Given the description of an element on the screen output the (x, y) to click on. 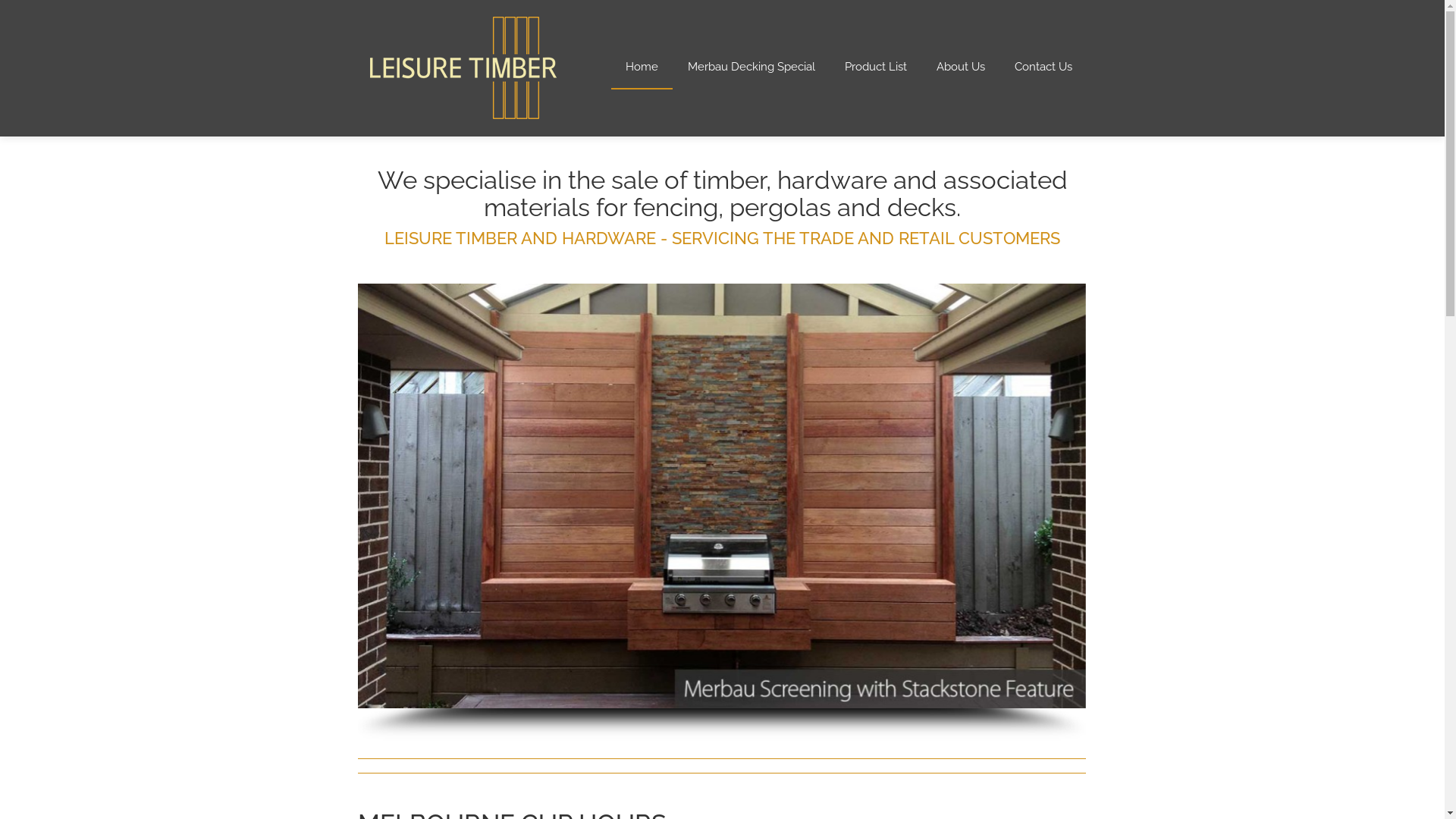
Home Element type: text (641, 67)
Contact Us Element type: text (1042, 67)
About Us Element type: text (960, 67)
Product List Element type: text (874, 67)
Merbau Decking Special Element type: text (751, 67)
